Given the description of an element on the screen output the (x, y) to click on. 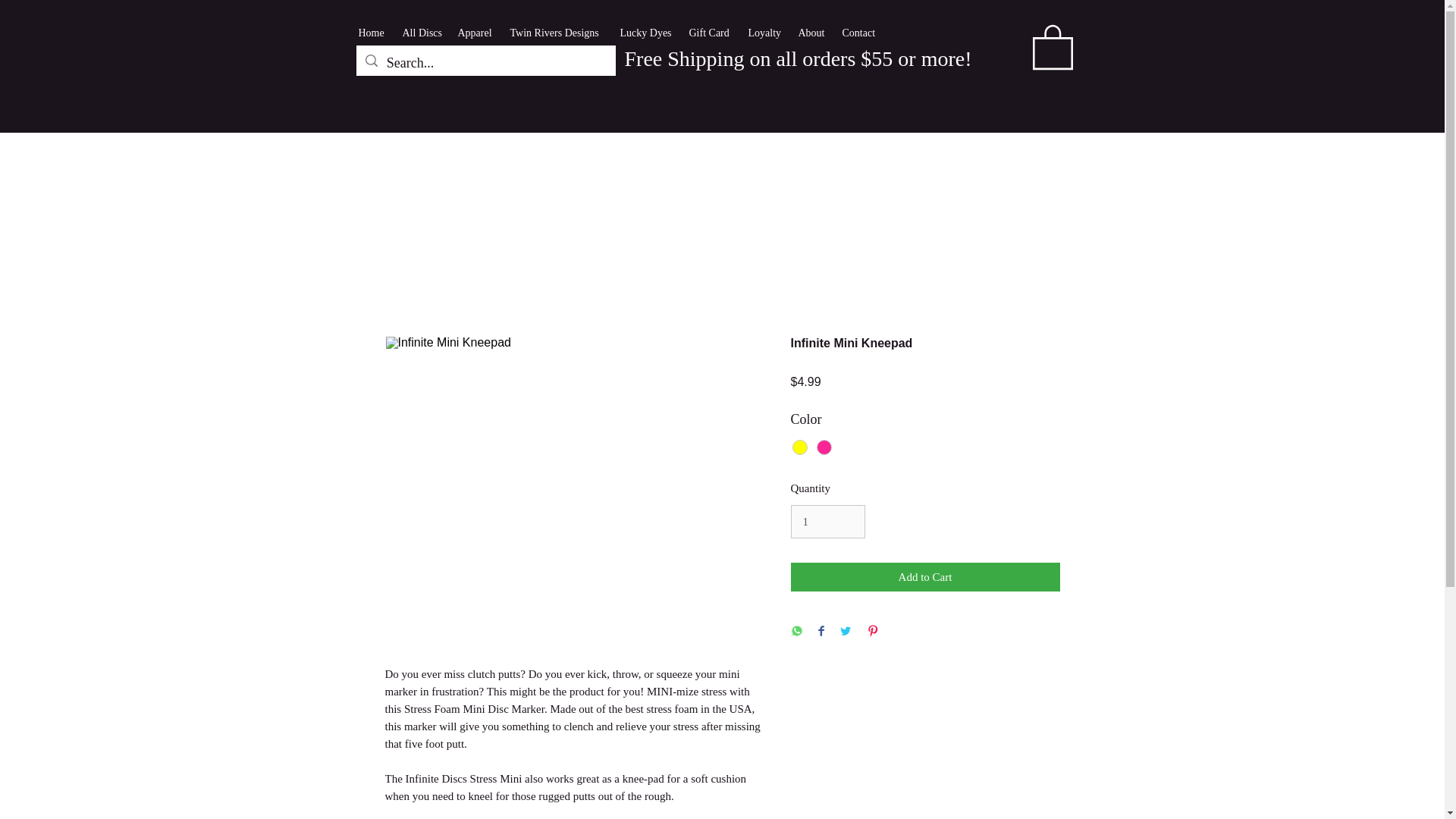
All Discs (421, 33)
Add to Cart (924, 577)
Loyalty (764, 33)
Contact (860, 33)
Apparel (475, 33)
Gift Card (710, 33)
Lucky Dyes (646, 33)
About (812, 33)
Twin Rivers Designs (556, 33)
1 (827, 521)
